Given the description of an element on the screen output the (x, y) to click on. 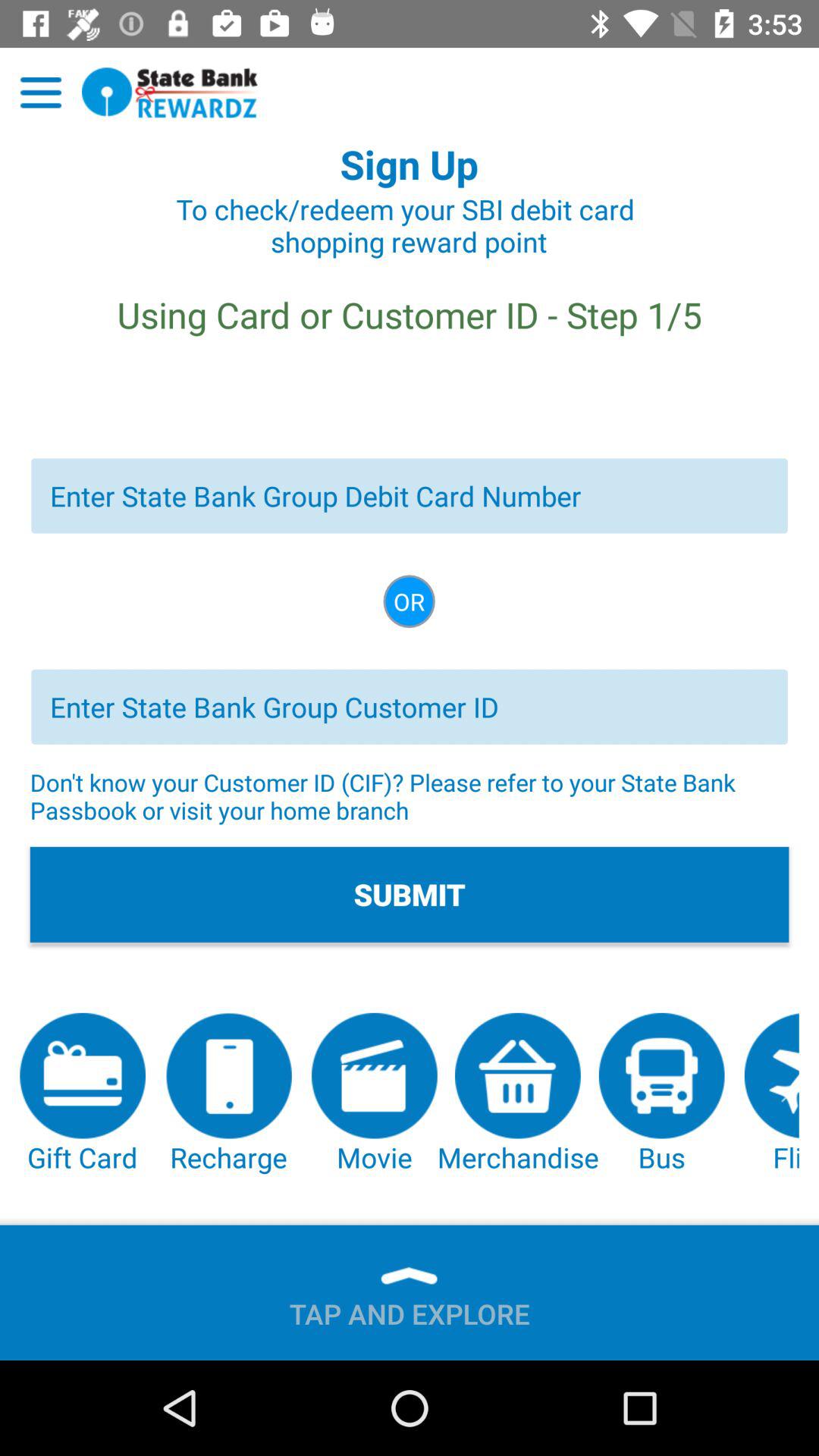
launch the app next to movie app (228, 1094)
